Given the description of an element on the screen output the (x, y) to click on. 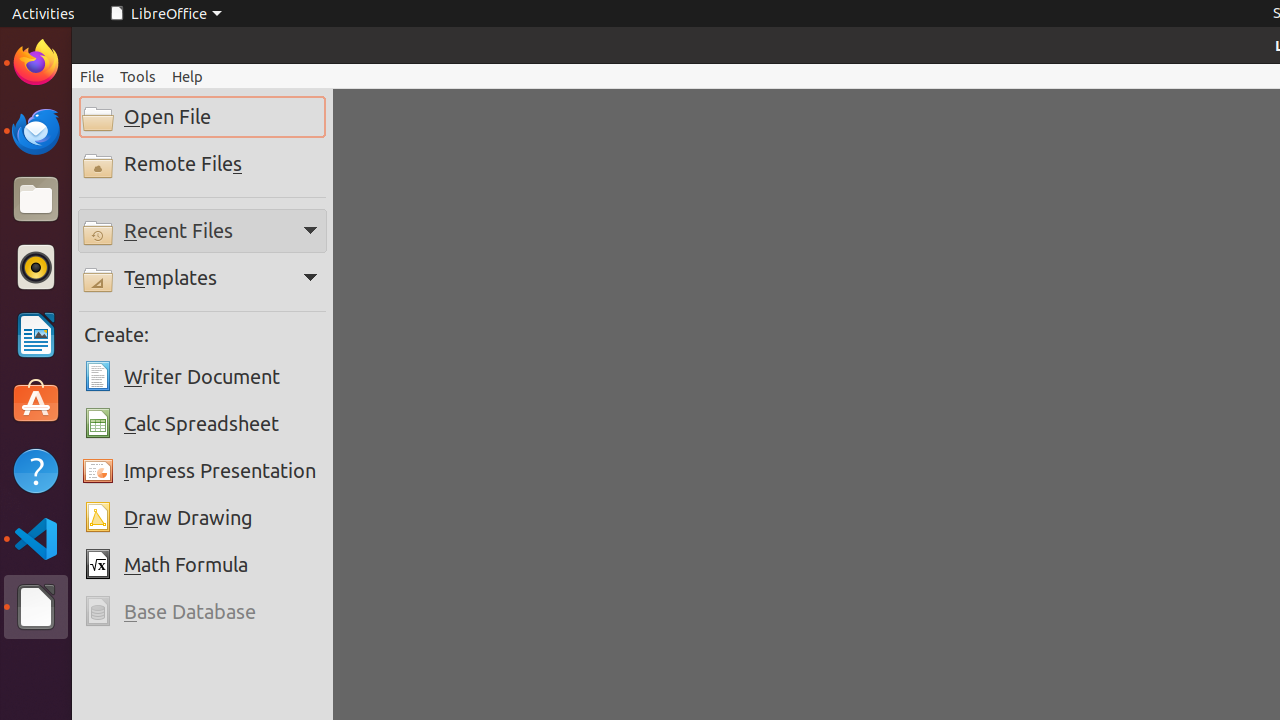
Math Formula Element type: push-button (202, 565)
Calc Spreadsheet Element type: push-button (202, 424)
Templates Element type: push-button (202, 278)
Base Database Element type: push-button (202, 612)
Open File Element type: push-button (202, 117)
